Given the description of an element on the screen output the (x, y) to click on. 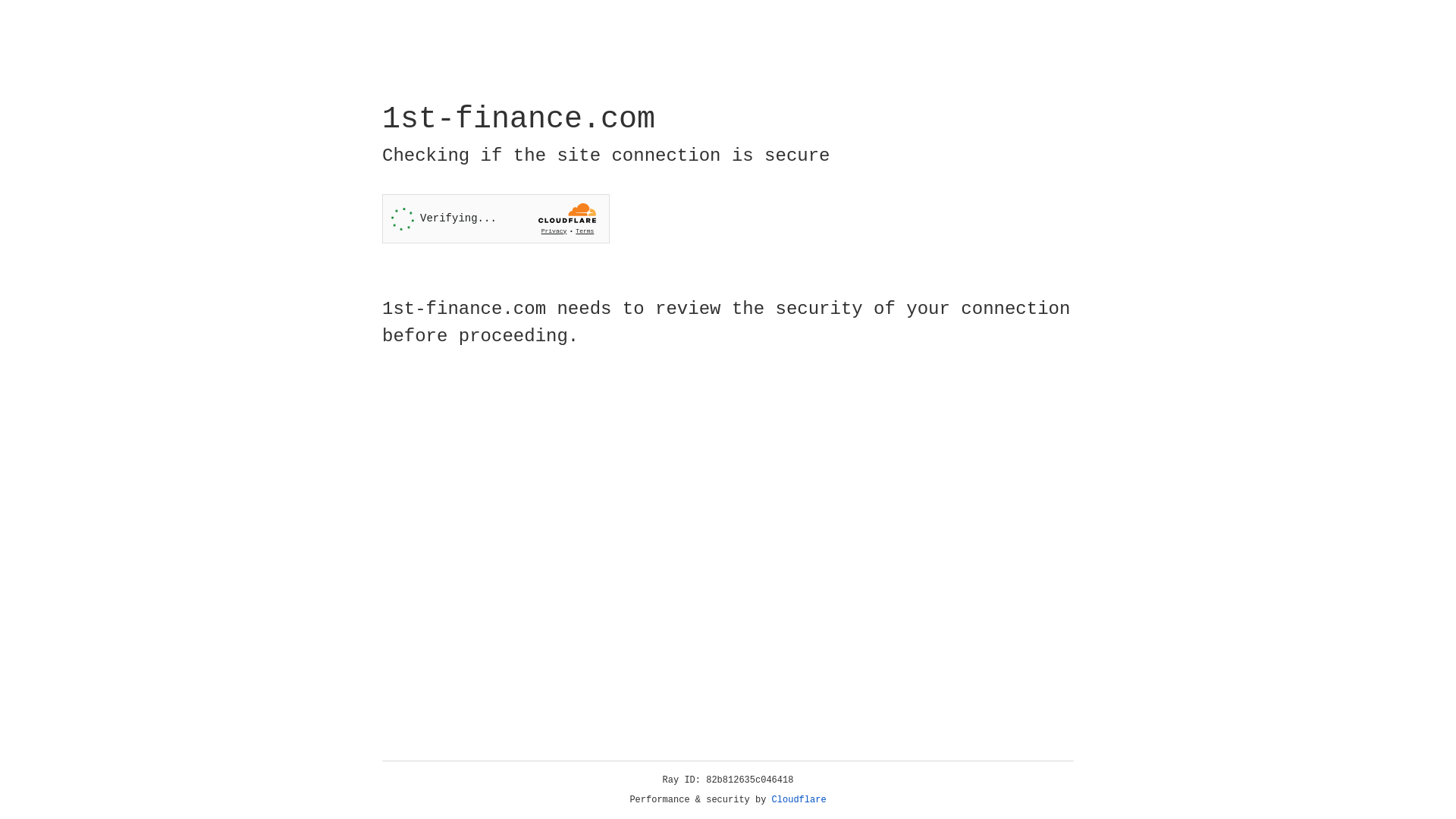
Cloudflare Element type: text (798, 799)
Widget containing a Cloudflare security challenge Element type: hover (495, 218)
